Given the description of an element on the screen output the (x, y) to click on. 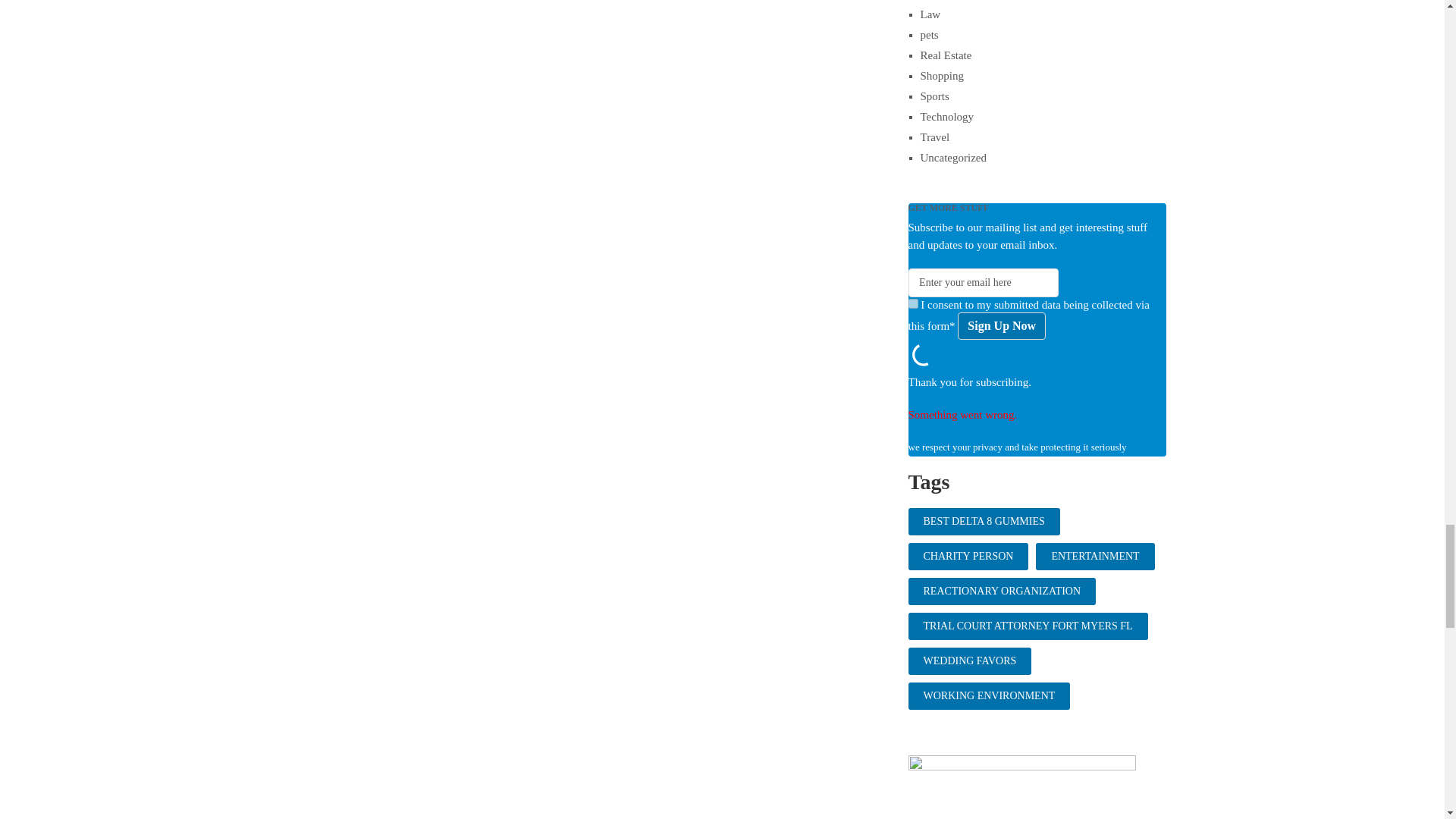
on (913, 303)
Sign Up Now (1001, 325)
